Given the description of an element on the screen output the (x, y) to click on. 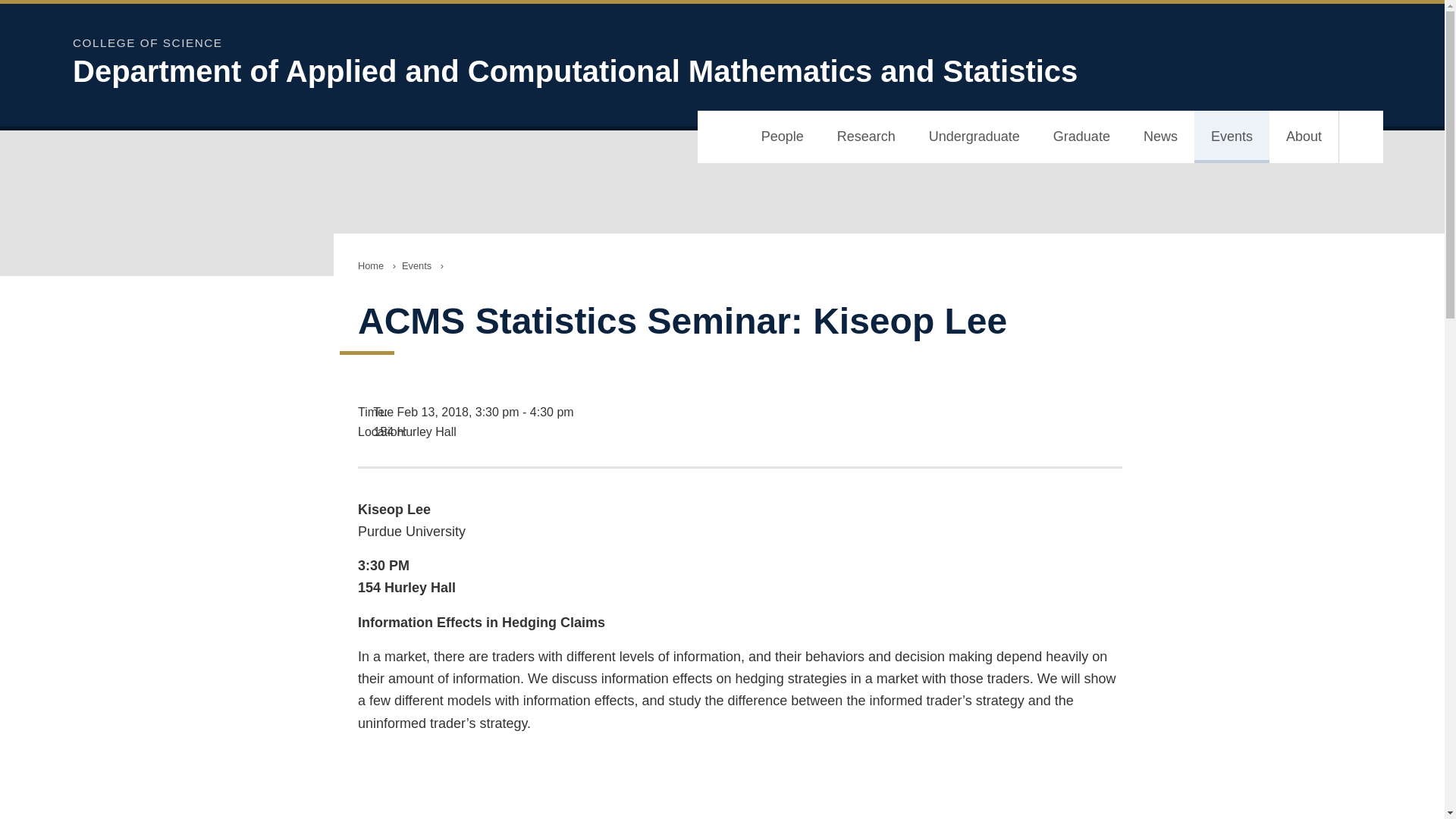
People (782, 136)
About (1303, 136)
Graduate (1081, 136)
Events (417, 265)
University of Notre Dame (1288, 51)
Home (371, 265)
News (1159, 136)
Events (1231, 136)
Undergraduate (974, 136)
Tue Feb 13, 2018  3:30 pm -  4:30 pm (740, 412)
Research (866, 136)
